Given the description of an element on the screen output the (x, y) to click on. 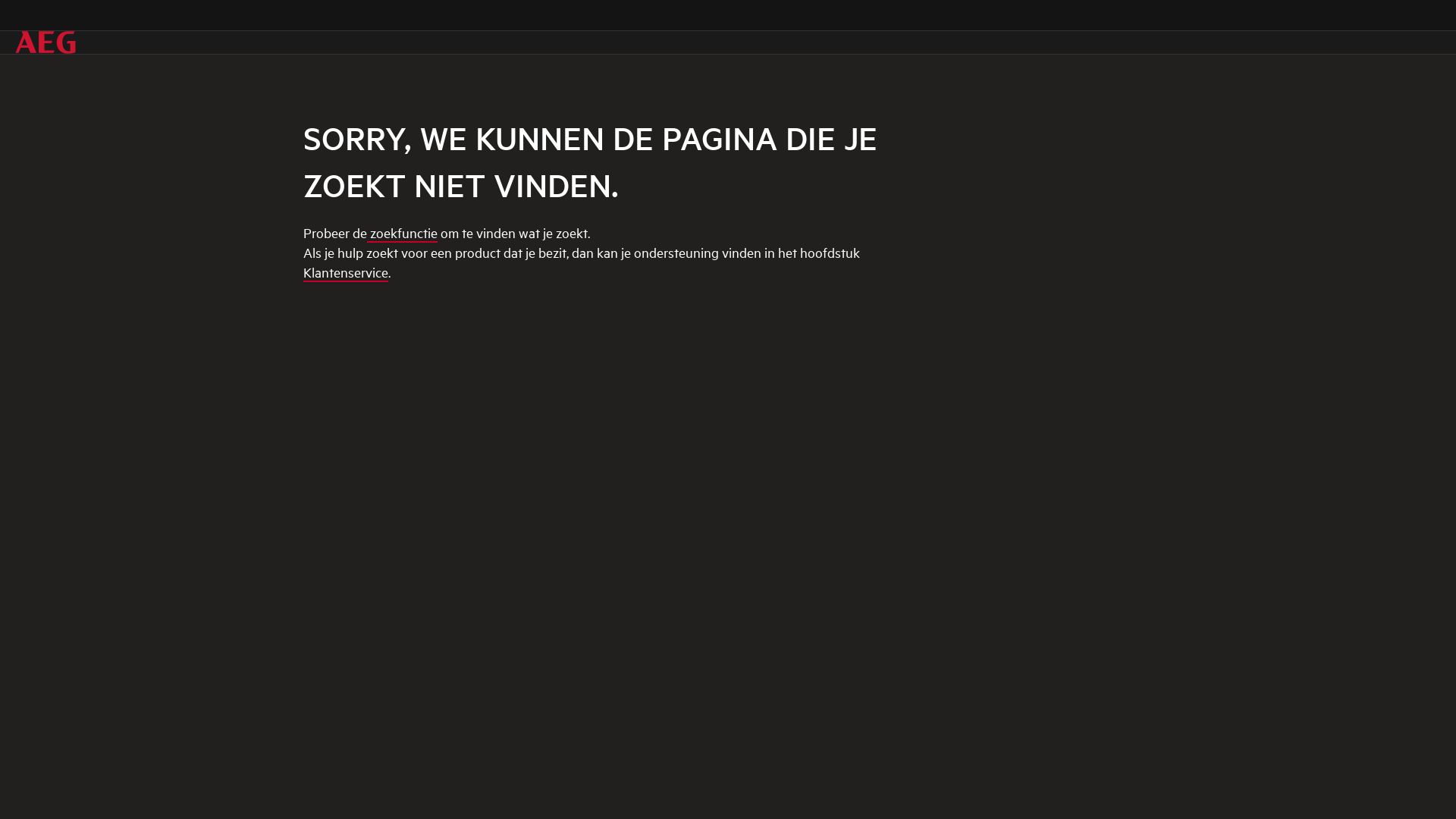
 zoekfunctie Element type: text (402, 232)
Klantenservice Element type: text (345, 272)
